Given the description of an element on the screen output the (x, y) to click on. 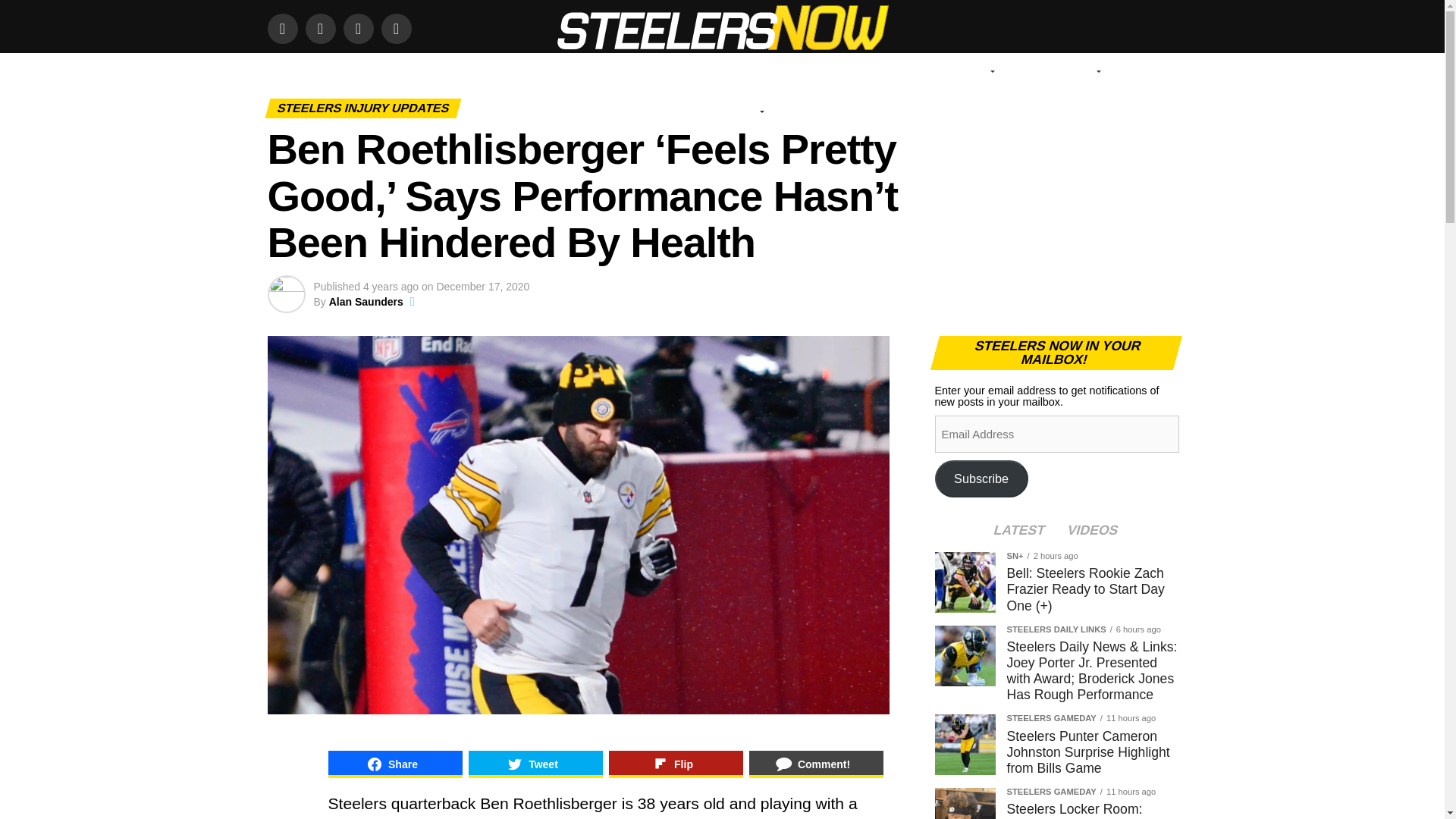
ANALYSIS (699, 71)
Share on Flip (675, 764)
Share on Comment! (816, 764)
Share on Tweet (535, 764)
HOME (363, 71)
STEELERS NEWS (607, 71)
Share on Share (394, 764)
Posts by Alan Saunders (366, 301)
